Given the description of an element on the screen output the (x, y) to click on. 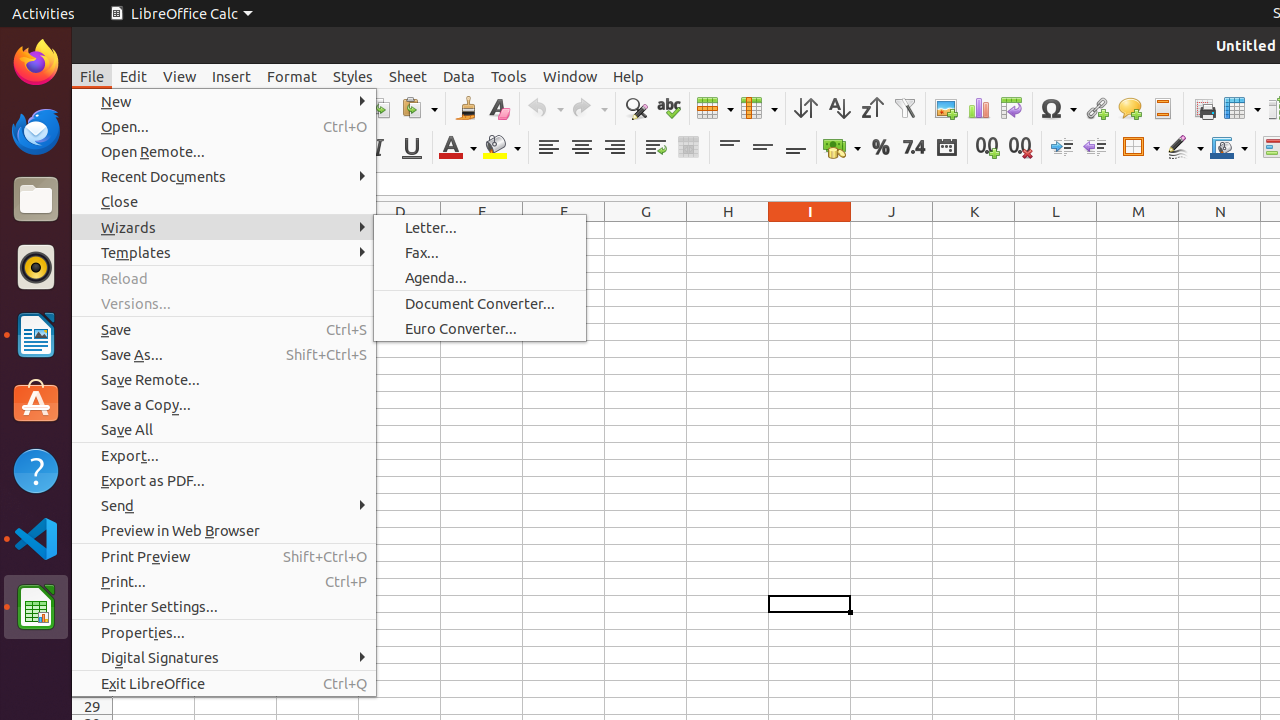
Undo Element type: push-button (545, 108)
Versions... Element type: menu-item (224, 303)
Letter... Element type: menu-item (480, 227)
Document Converter... Element type: menu-item (480, 303)
Decrease Element type: push-button (1094, 147)
